Given the description of an element on the screen output the (x, y) to click on. 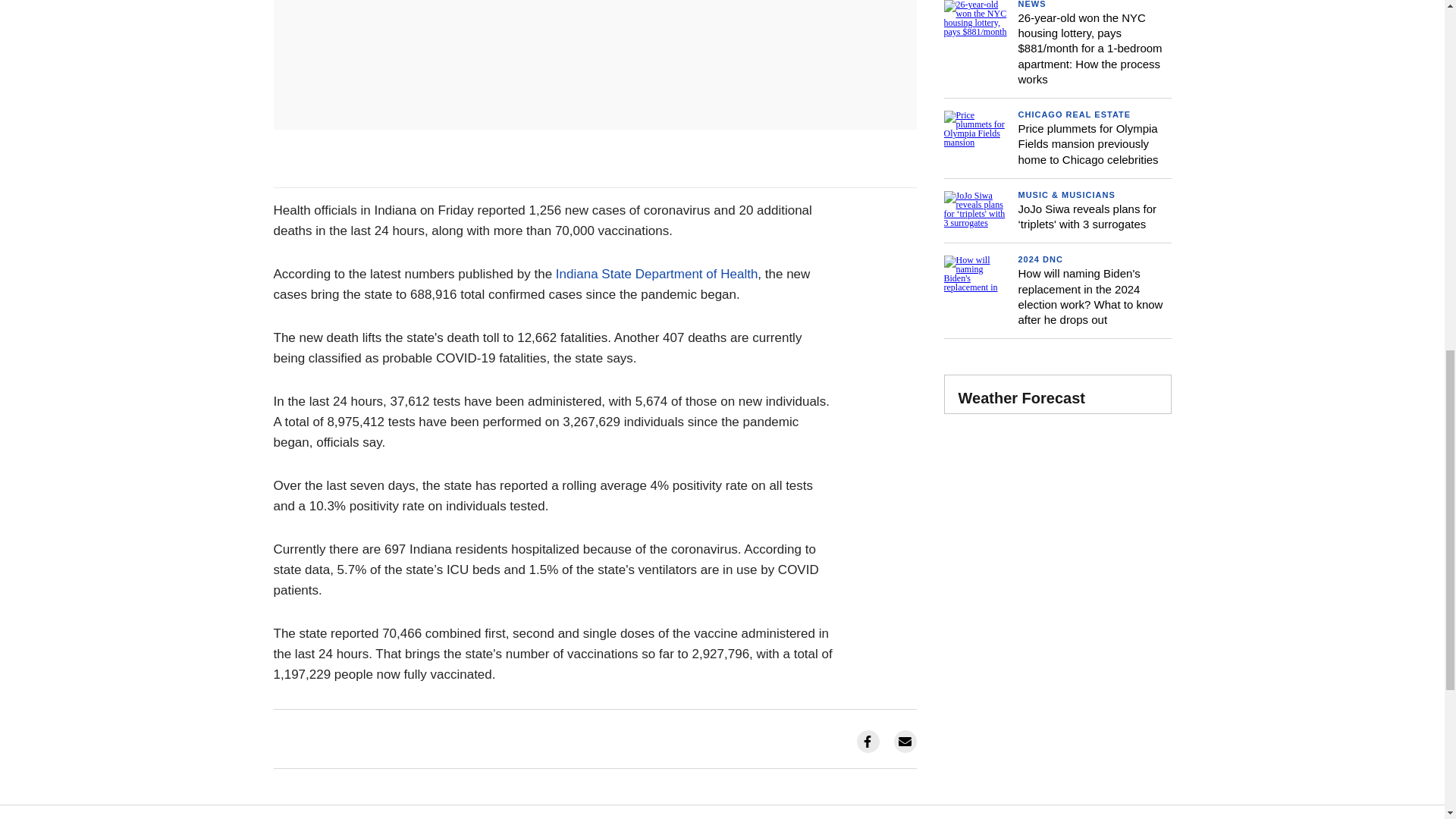
NEWS (1031, 4)
Indiana State Department of Health (657, 273)
CHICAGO REAL ESTATE (1074, 113)
